Given the description of an element on the screen output the (x, y) to click on. 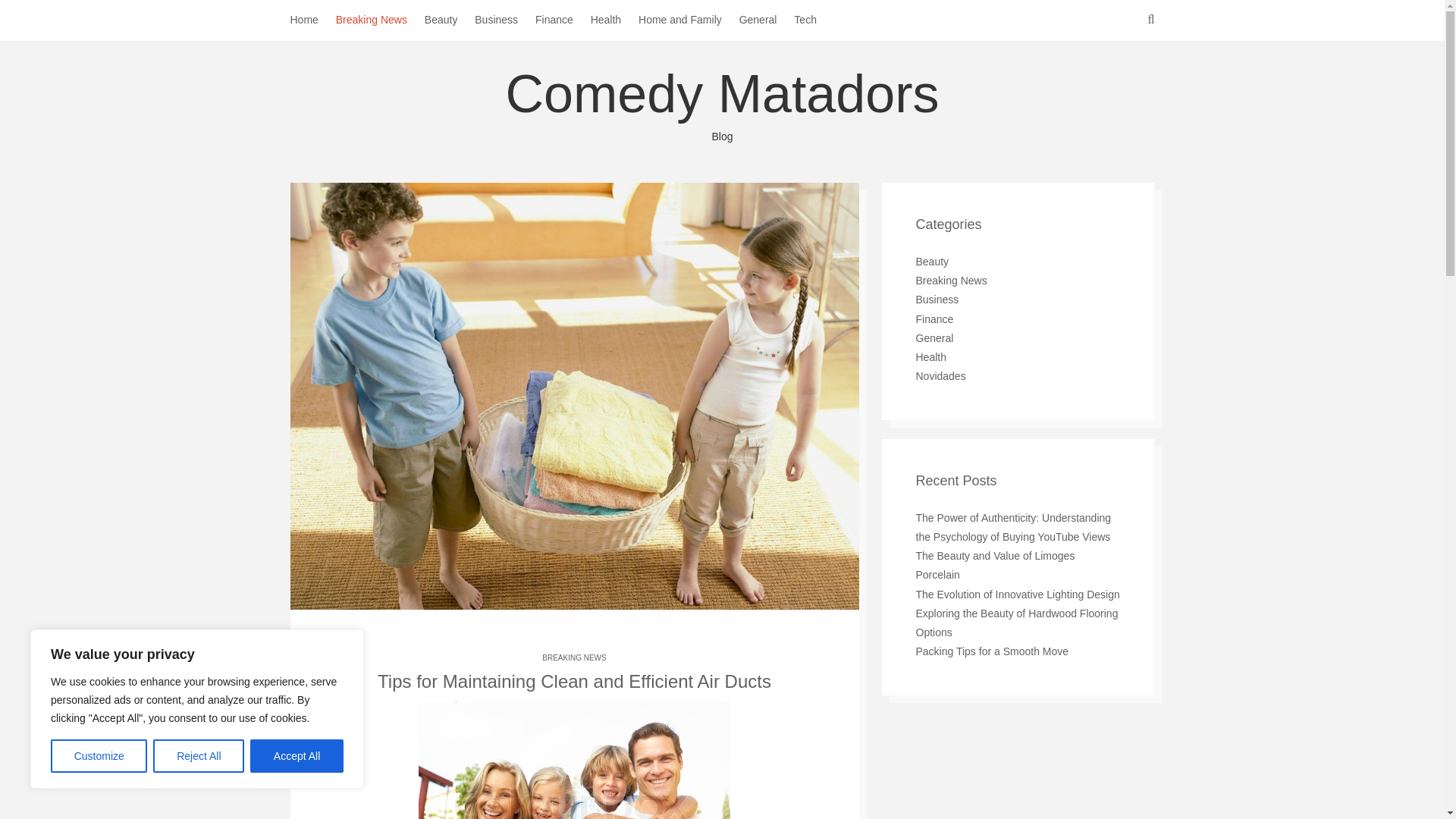
Accept All (296, 756)
General (766, 20)
Home and Family (689, 20)
Home (312, 20)
BREAKING NEWS (573, 657)
Health (615, 20)
Customize (98, 756)
Beauty (450, 20)
Breaking News (380, 20)
Tech (813, 20)
